Given the description of an element on the screen output the (x, y) to click on. 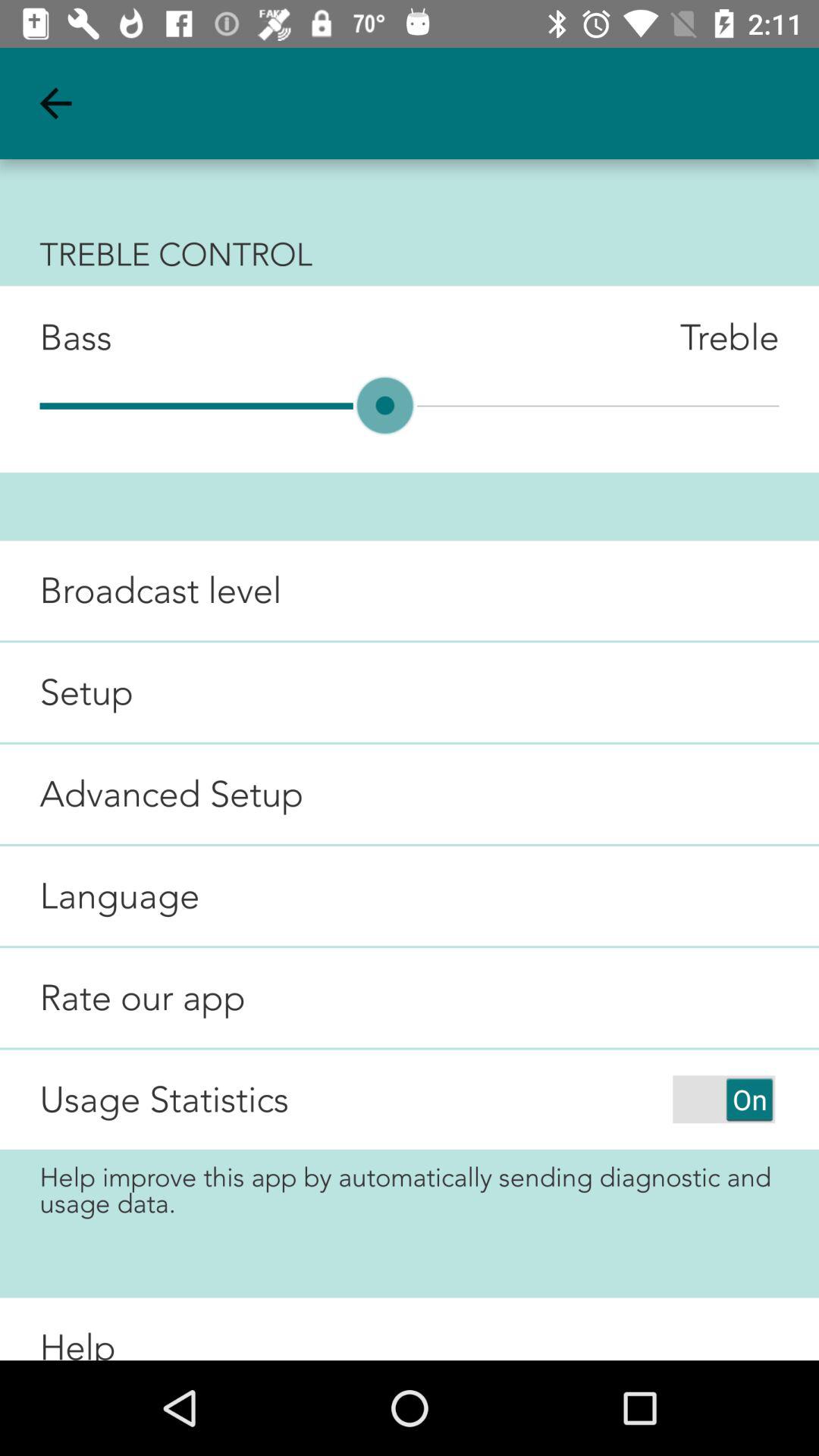
launch the icon above help improve this item (163, 1099)
